Given the description of an element on the screen output the (x, y) to click on. 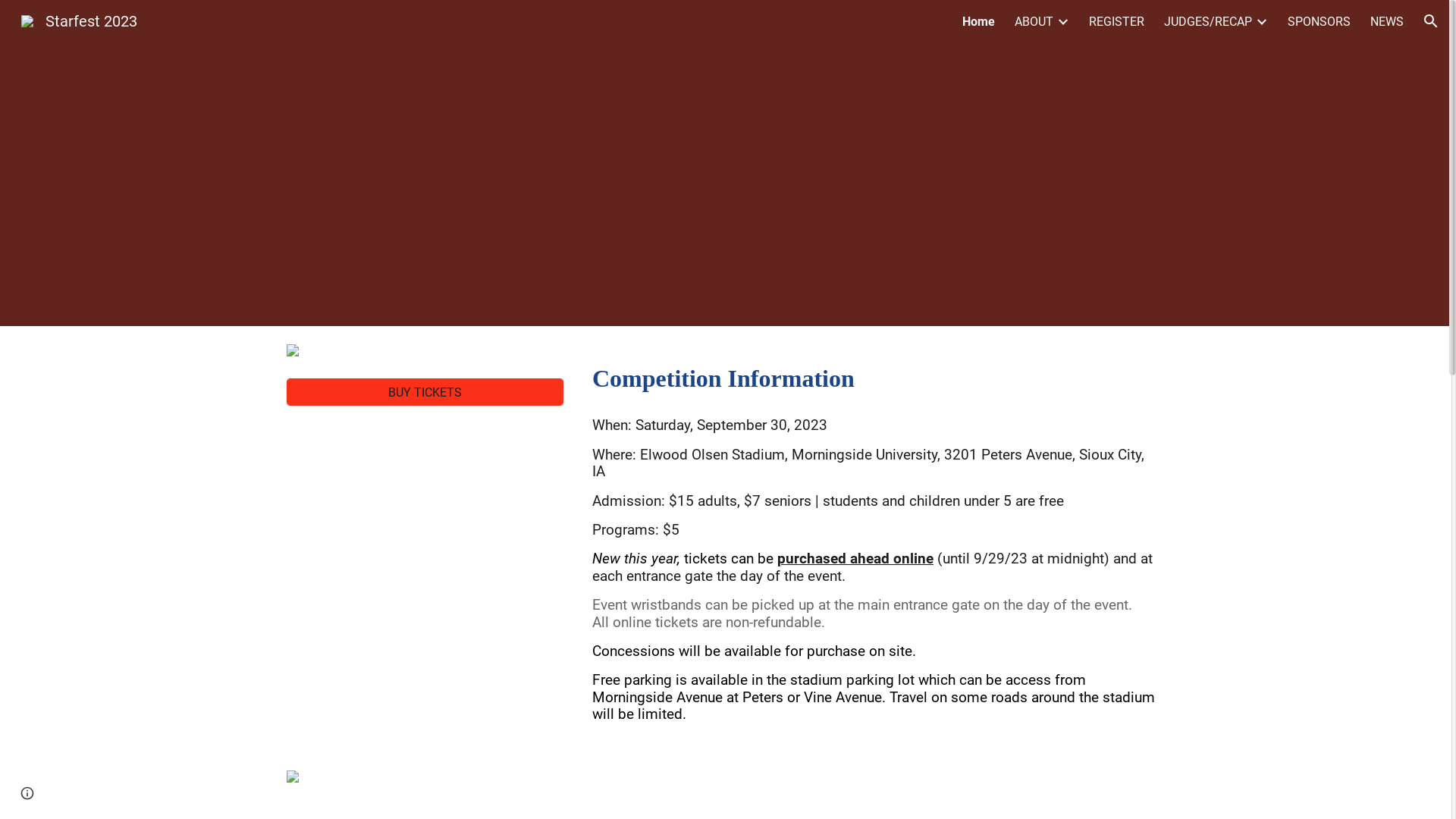
ABOUT Element type: text (1033, 20)
Expand/Collapse Element type: hover (1062, 20)
Home Element type: text (978, 20)
REGISTER Element type: text (1116, 20)
NEWS Element type: text (1386, 20)
SPONSORS Element type: text (1318, 20)
Expand/Collapse Element type: hover (1260, 20)
Starfest 2023 Element type: text (79, 19)
purchased ahead online Element type: text (855, 559)
JUDGES/RECAP Element type: text (1208, 20)
BUY TICKETS Element type: text (424, 392)
